Given the description of an element on the screen output the (x, y) to click on. 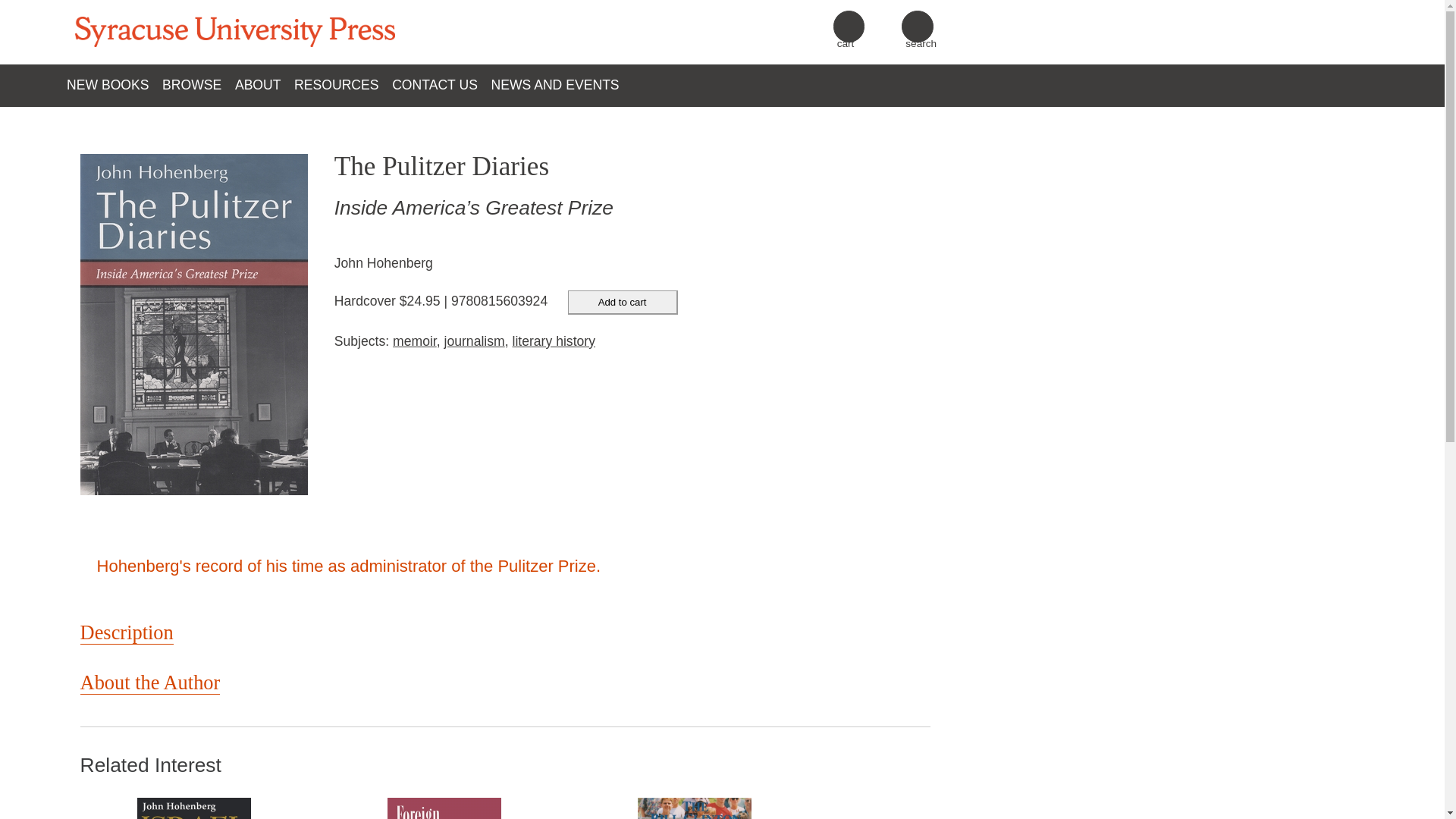
site searchSearch the site search (917, 26)
NEWS AND EVENTS (560, 84)
ABOUT (264, 84)
site searchSearch the site (917, 26)
BROWSE (197, 84)
journalism (474, 340)
open cartGo to cart (850, 26)
open cartGo to cart cart (848, 26)
Description (126, 632)
literary history (553, 340)
